Given the description of an element on the screen output the (x, y) to click on. 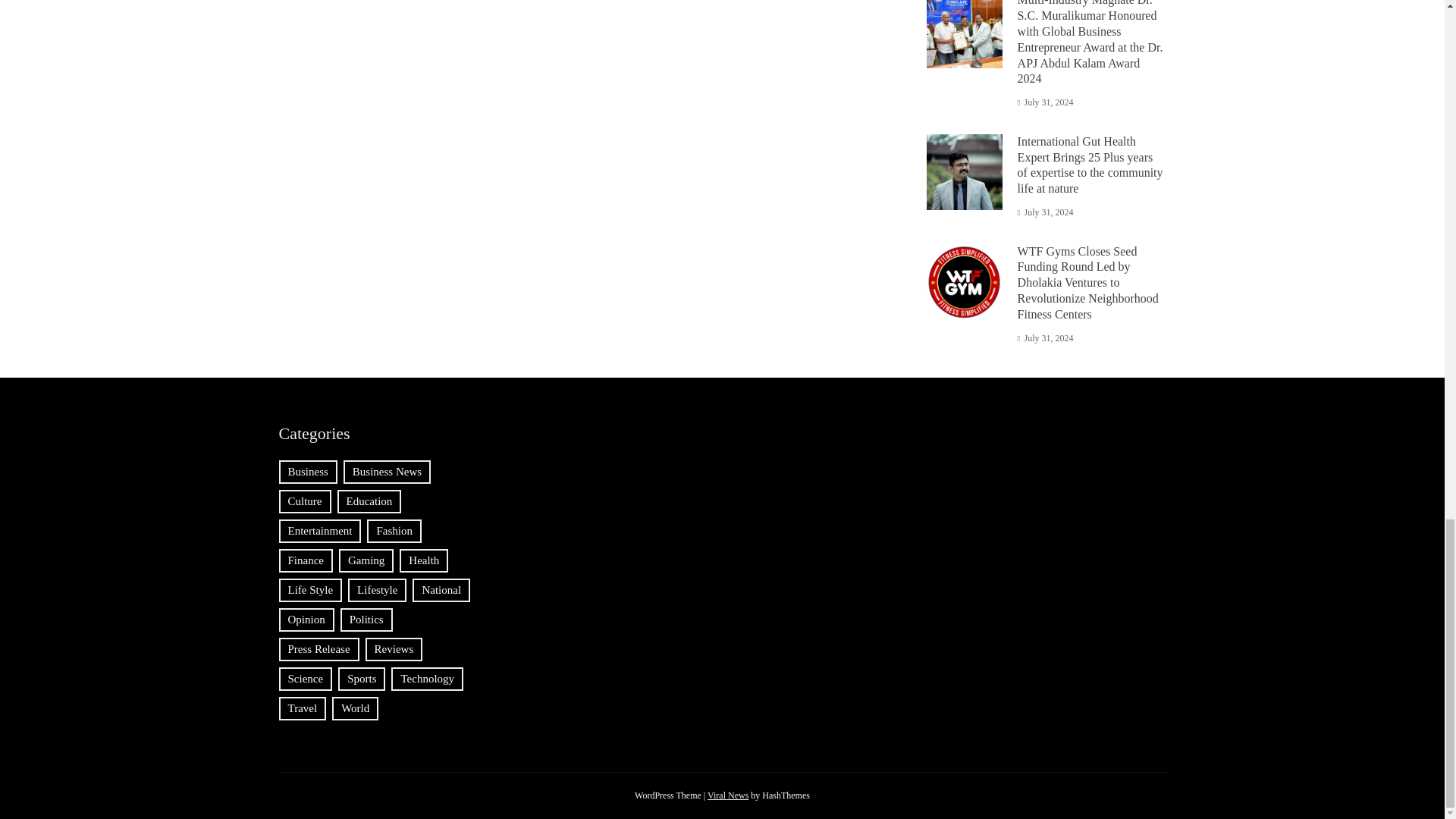
Download Viral News (727, 795)
